Given the description of an element on the screen output the (x, y) to click on. 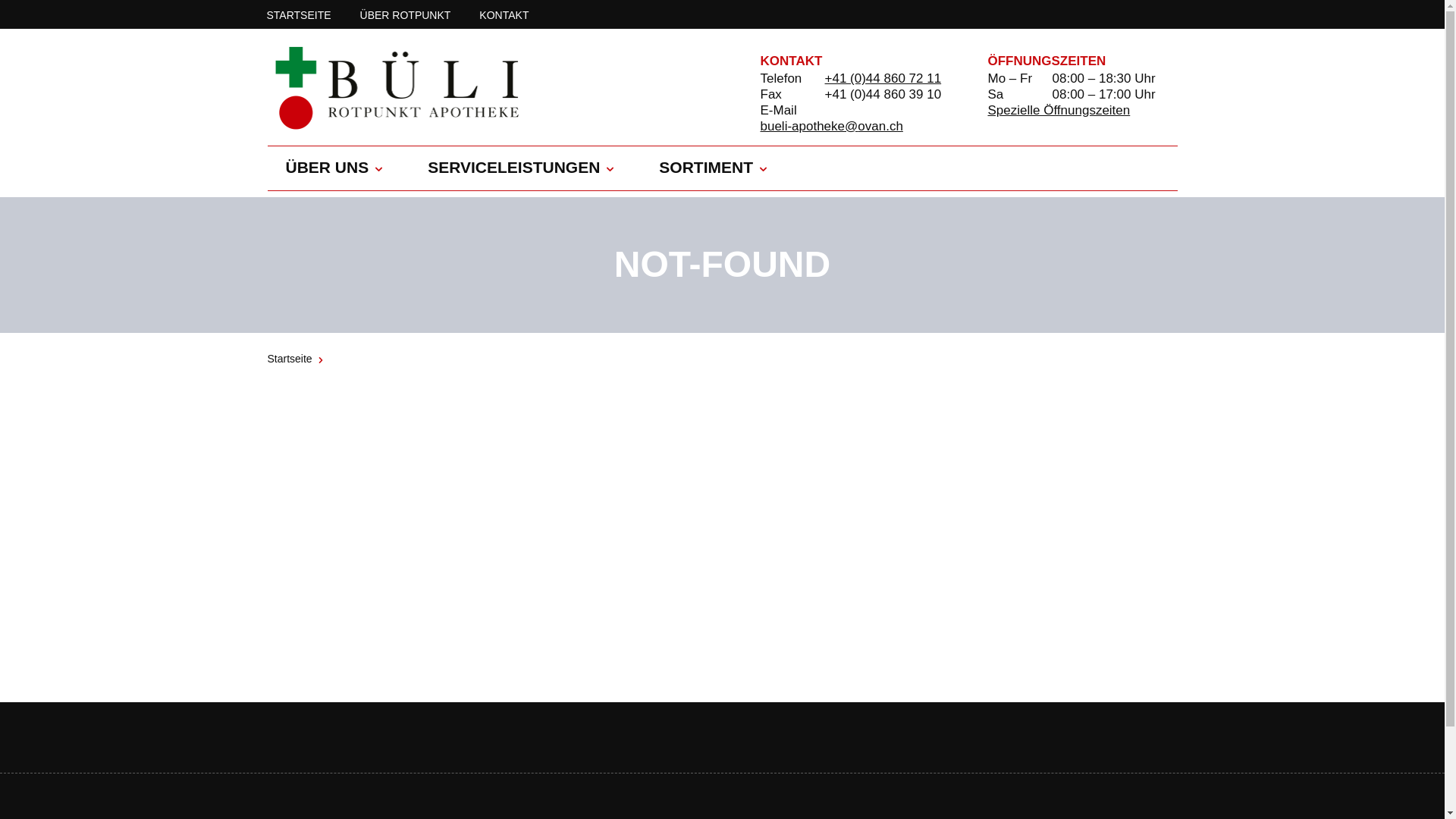
SERVICELEISTUNGEN Element type: text (513, 168)
Startseite Element type: hover (493, 87)
bueli-apotheke@ovan.ch Element type: text (830, 126)
SORTIMENT Element type: text (705, 168)
+41 (0)44 860 72 11 Element type: text (883, 78)
Startseite Element type: text (288, 358)
STARTSEITE Element type: text (297, 14)
KONTAKT Element type: text (503, 14)
